Given the description of an element on the screen output the (x, y) to click on. 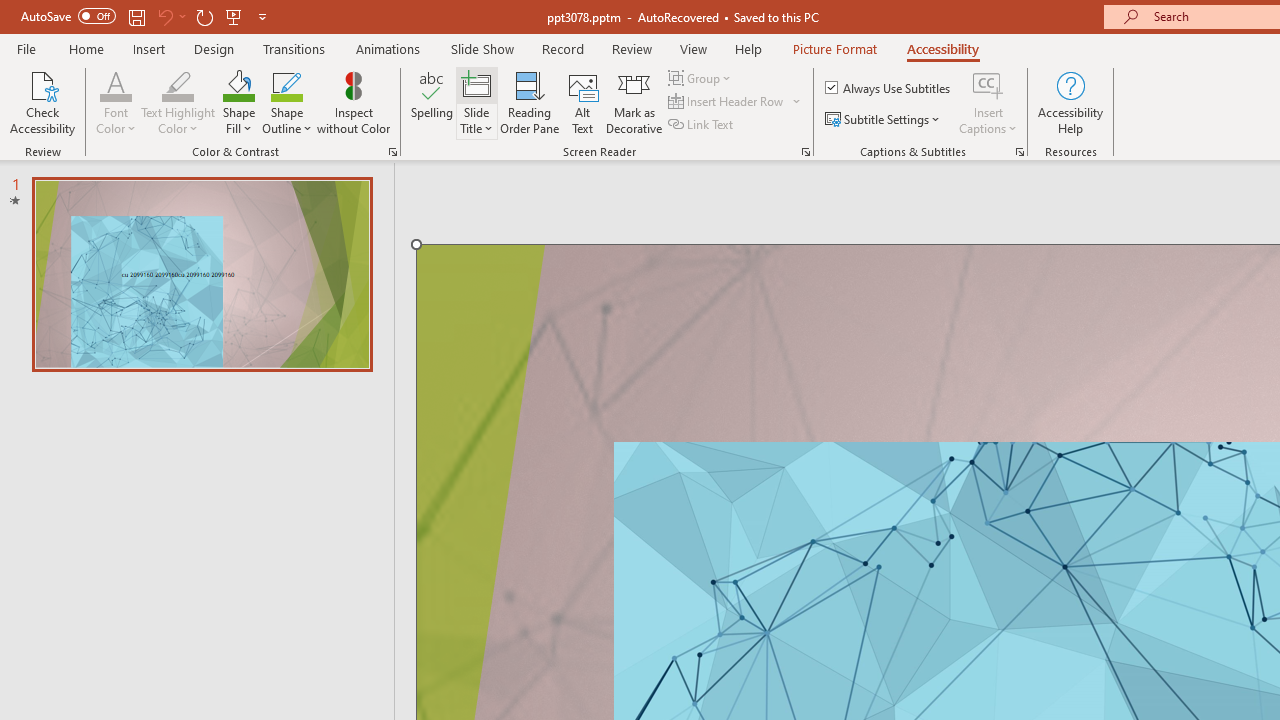
Captions & Subtitles (1019, 151)
Subtitle Settings (884, 119)
Screen Reader (805, 151)
